Given the description of an element on the screen output the (x, y) to click on. 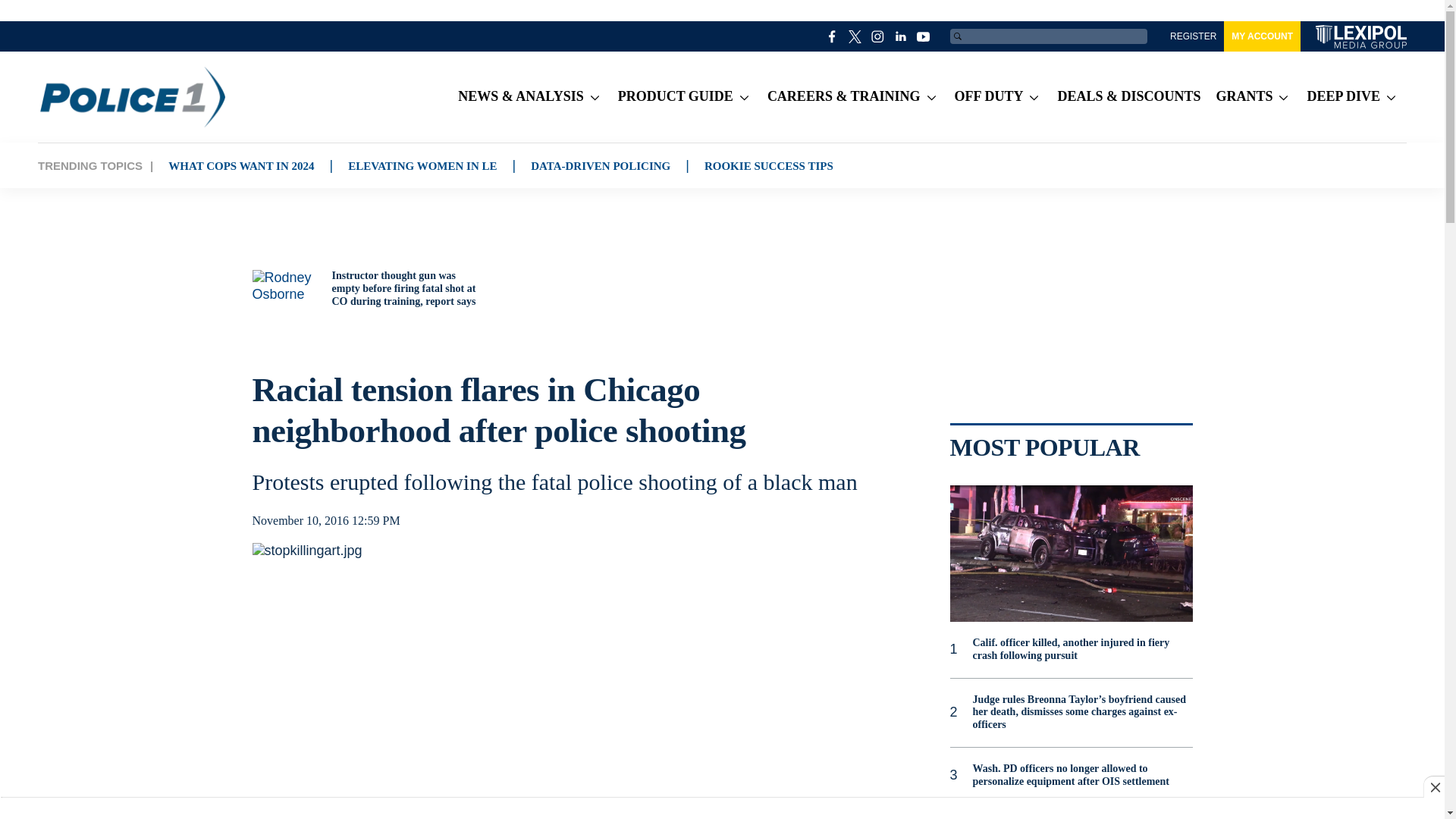
linkedin (900, 36)
MY ACCOUNT (1262, 36)
REGISTER (1192, 36)
instagram (877, 36)
twitter (855, 36)
youtube (923, 36)
facebook (832, 36)
